Given the description of an element on the screen output the (x, y) to click on. 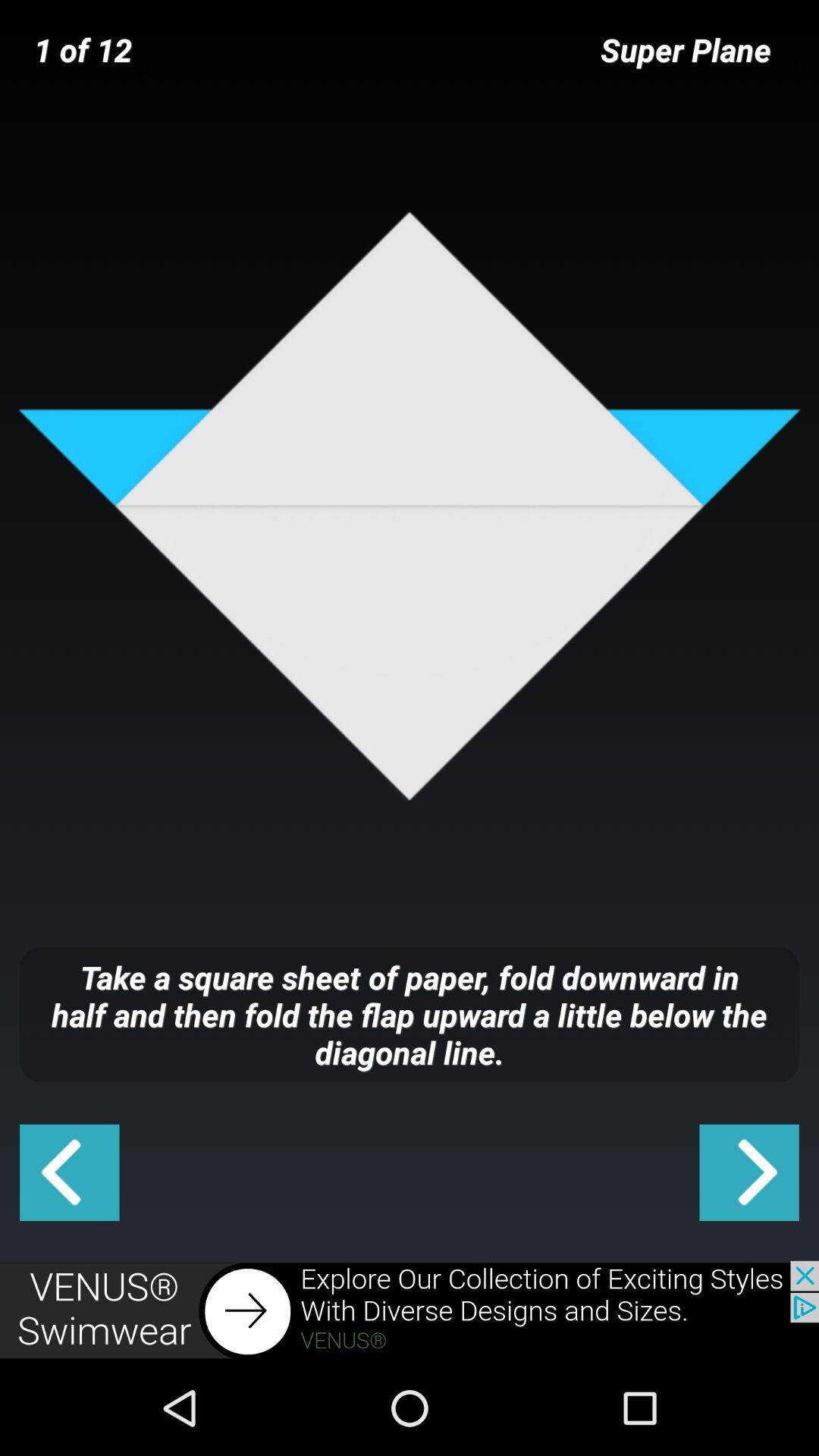
go back (69, 1172)
